Given the description of an element on the screen output the (x, y) to click on. 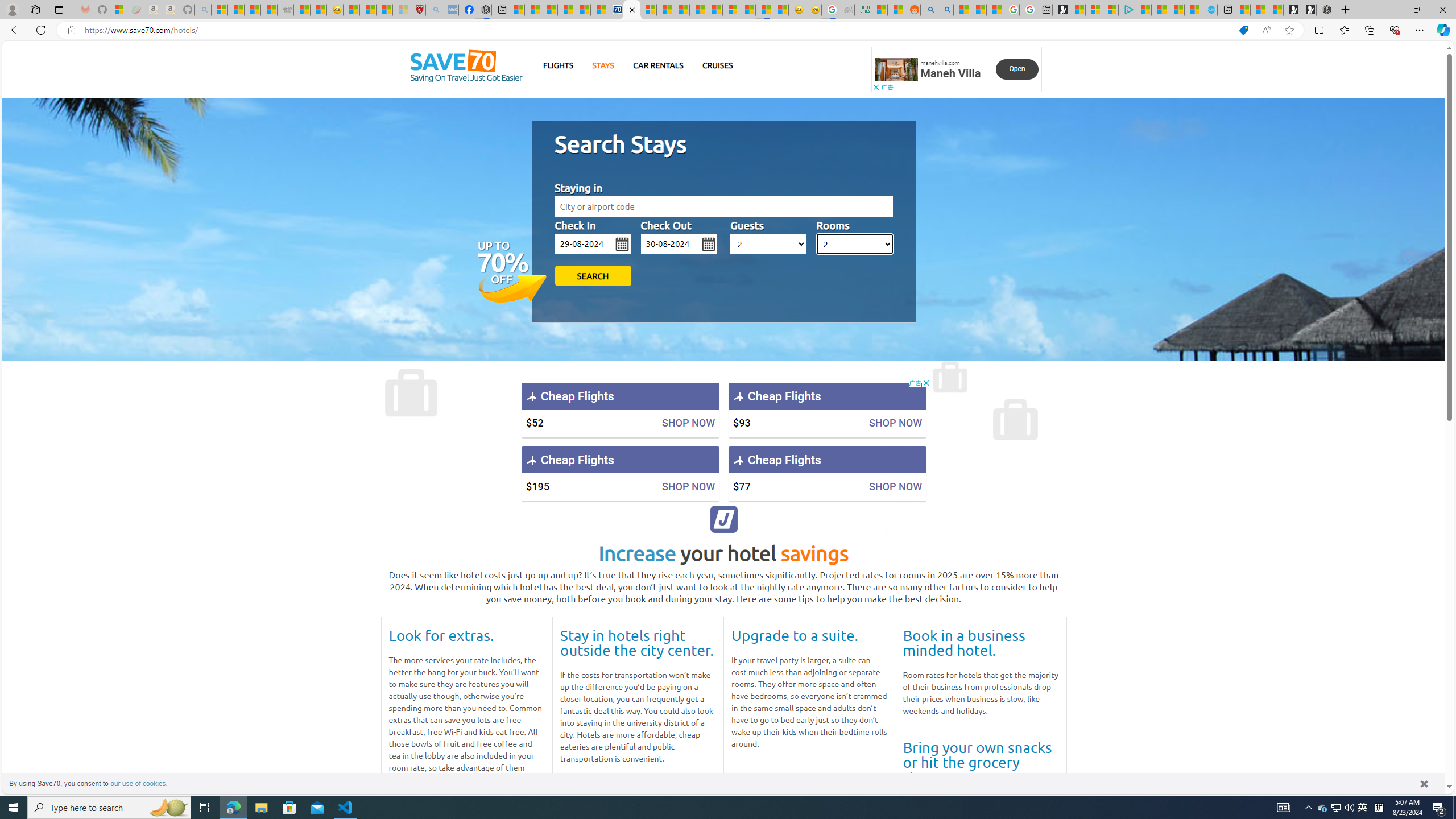
Cheap Flights $52 SHOP NOW (620, 409)
AutomationID: hotels_rooms (854, 243)
